Given the description of an element on the screen output the (x, y) to click on. 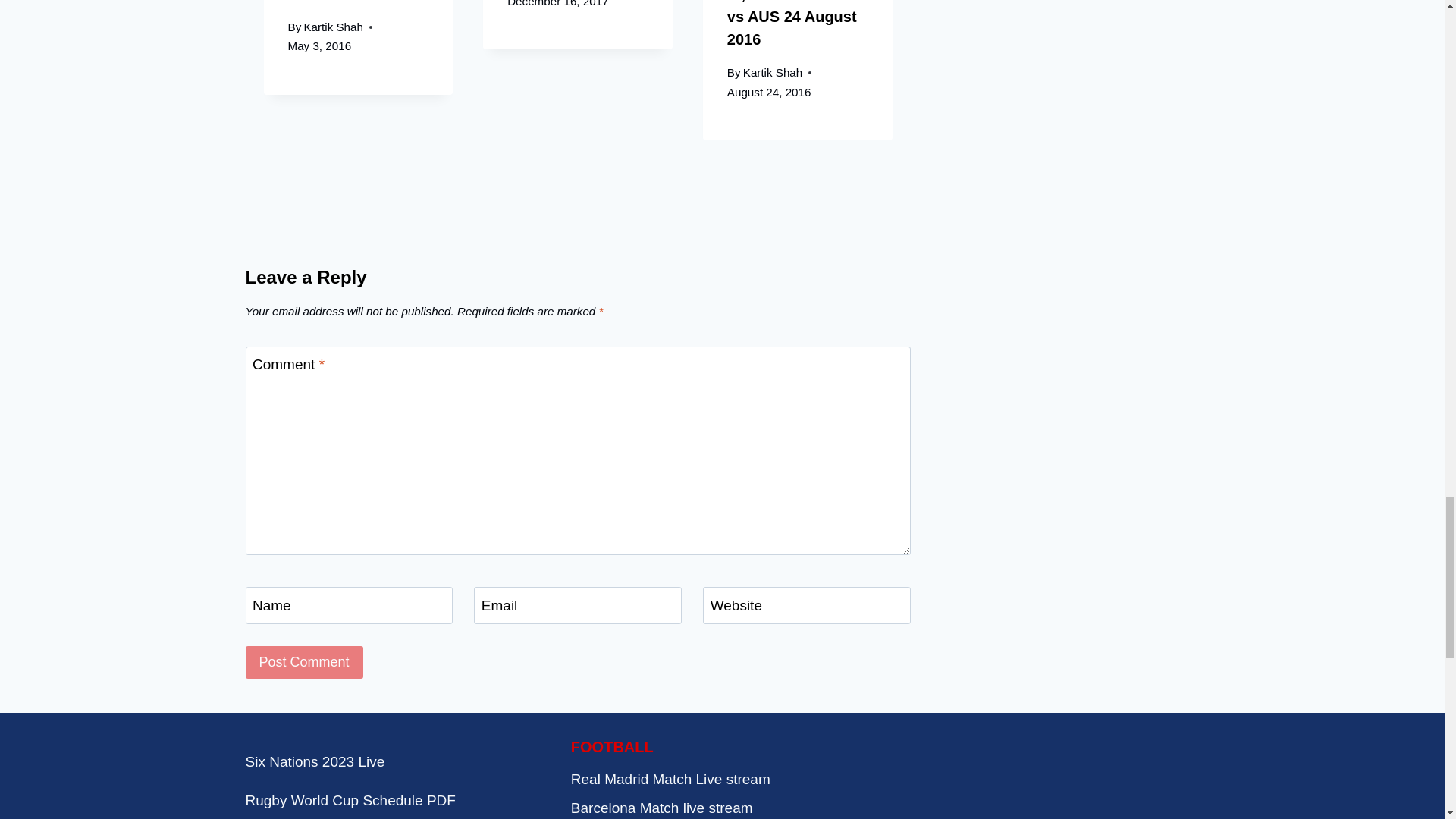
Post Comment (304, 662)
